Given the description of an element on the screen output the (x, y) to click on. 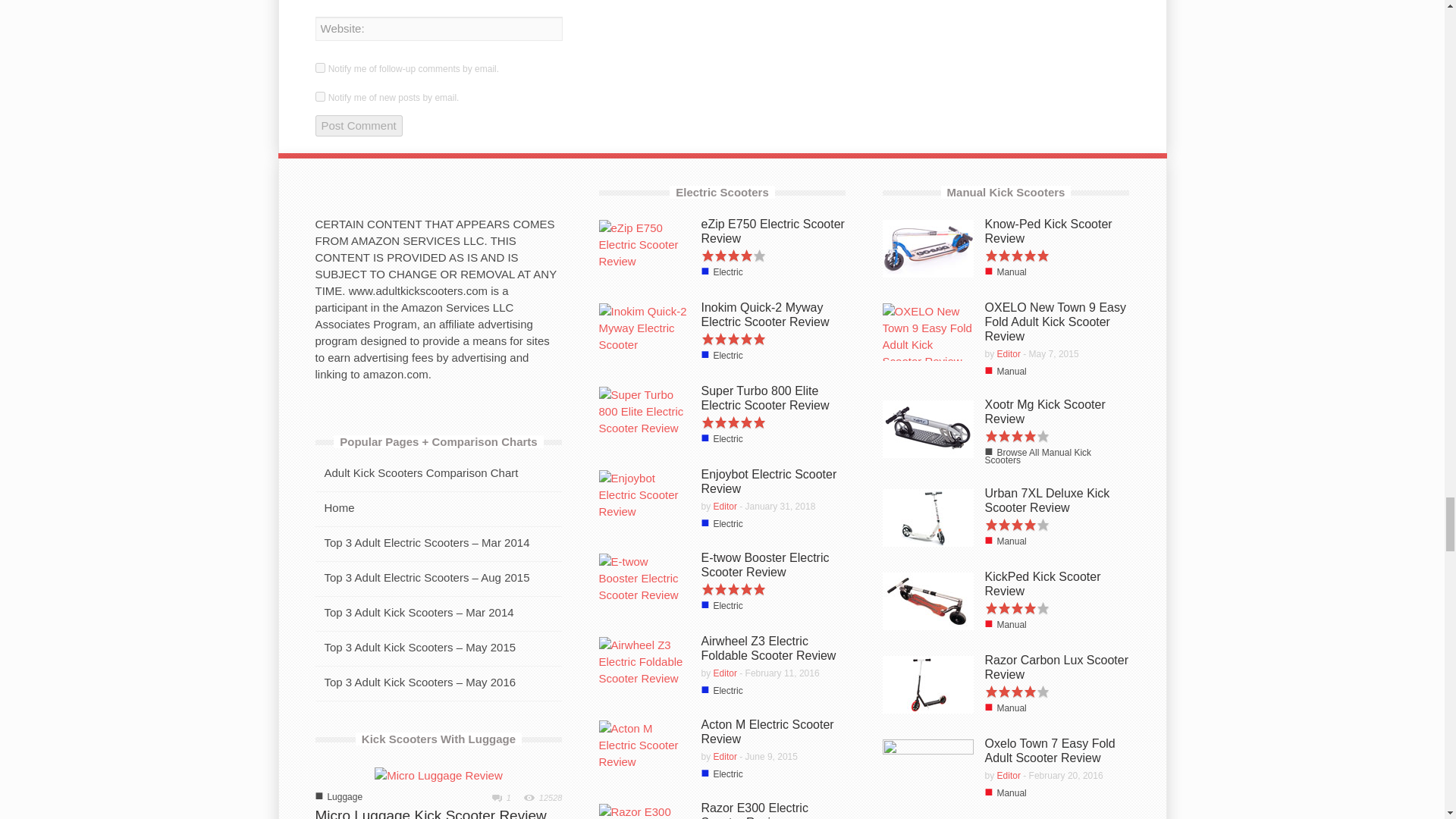
subscribe (319, 67)
Post Comment (359, 125)
subscribe (319, 96)
